Given the description of an element on the screen output the (x, y) to click on. 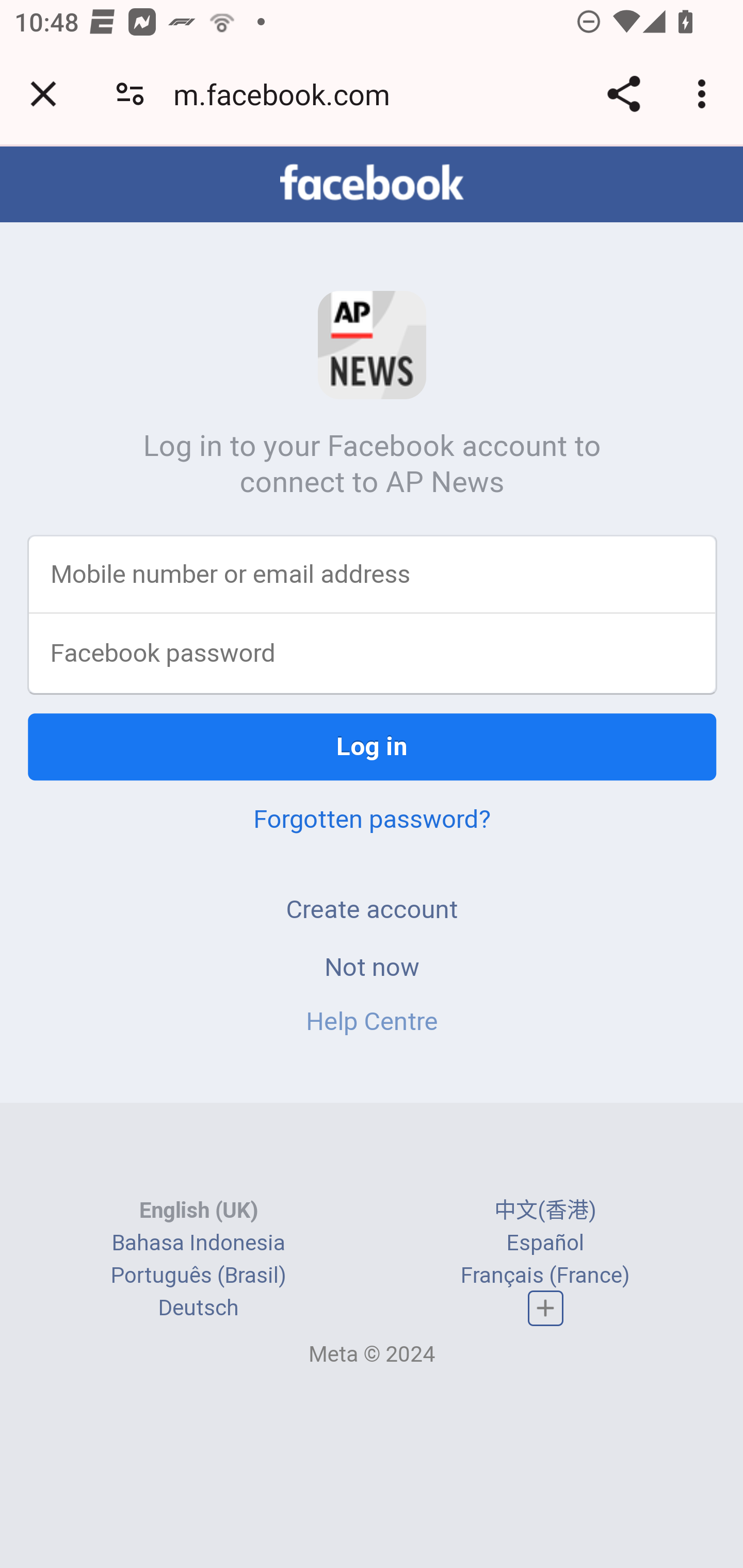
Close tab (43, 93)
Share (623, 93)
Customize and control Google Chrome (705, 93)
Connection is secure (129, 93)
m.facebook.com (288, 93)
facebook (371, 183)
Log in (372, 747)
Forgotten password? (371, 819)
Create account (371, 910)
Not now (371, 968)
Help Centre (371, 1022)
中文(香港) (544, 1211)
Bahasa Indonesia (198, 1243)
Español (545, 1243)
Português (Brasil) (197, 1276)
Français (France) (544, 1276)
Complete list of languages (545, 1309)
Deutsch (197, 1309)
